Given the description of an element on the screen output the (x, y) to click on. 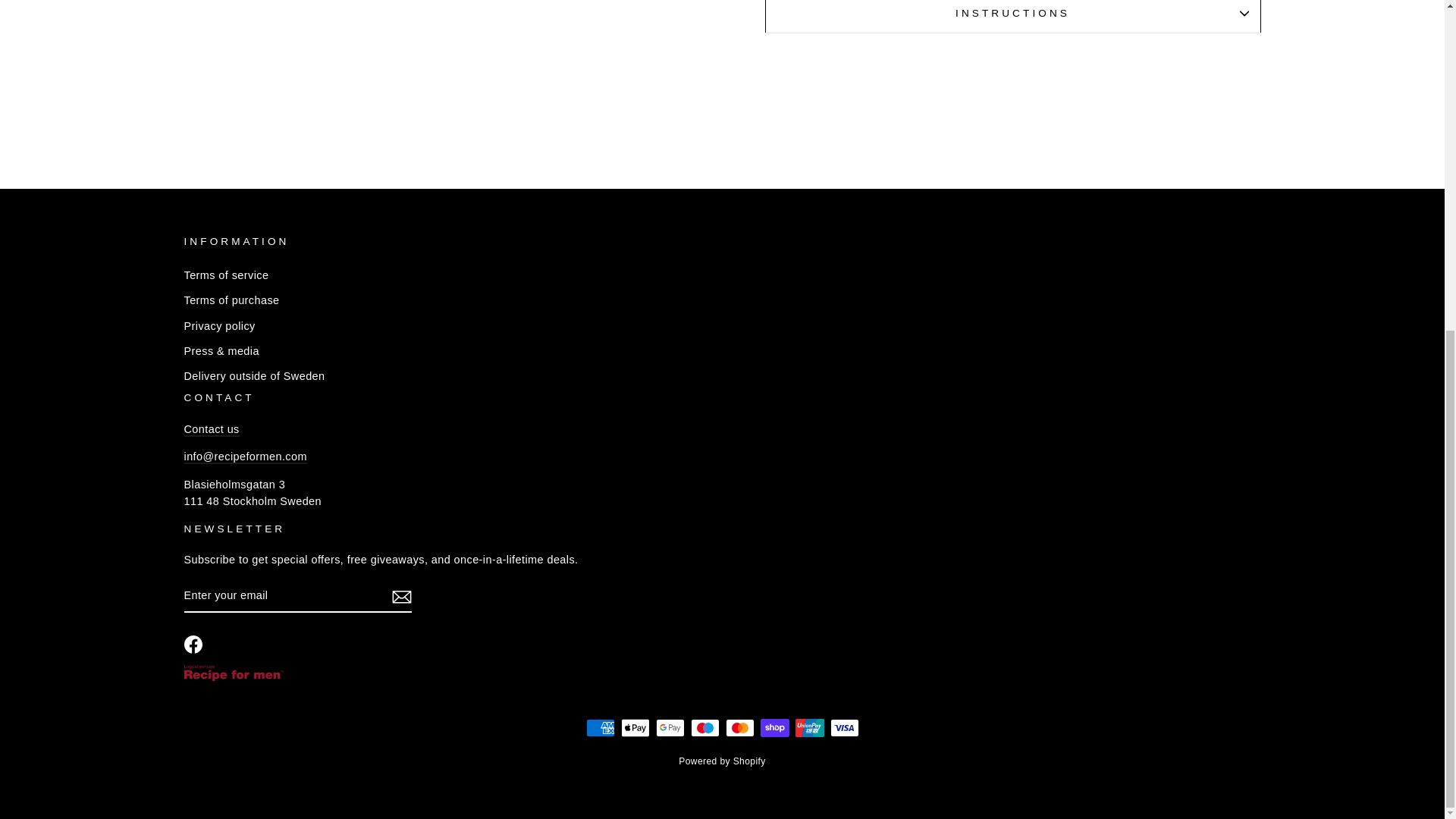
Contact (210, 429)
Maestro (704, 728)
Mastercard (739, 728)
Google Pay (669, 728)
Recipeformen.com on Facebook (192, 644)
Apple Pay (634, 728)
Visa (844, 728)
Union Pay (809, 728)
American Express (599, 728)
Shop Pay (774, 728)
